Given the description of an element on the screen output the (x, y) to click on. 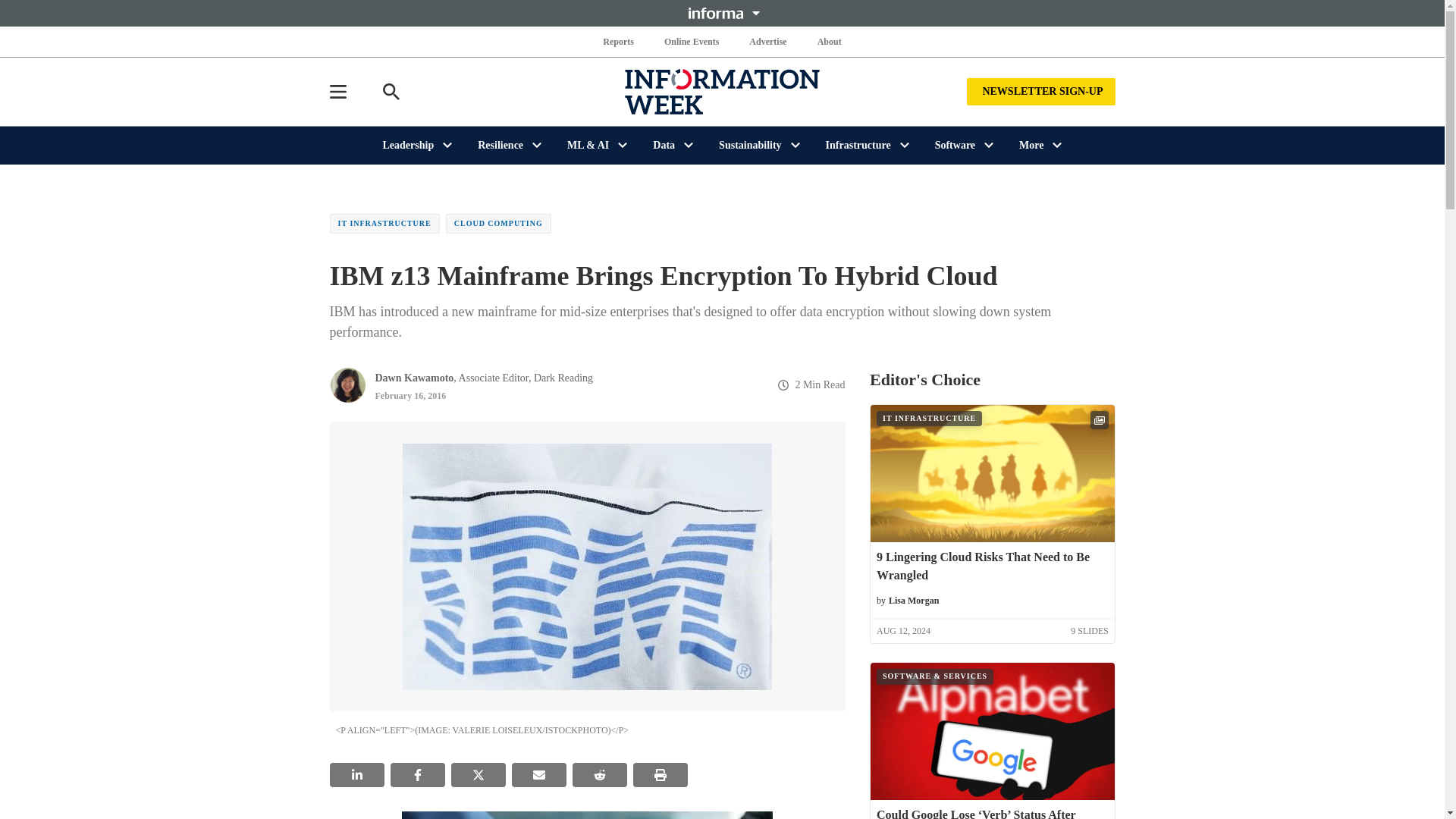
NEWSLETTER SIGN-UP (1040, 90)
Online Events (691, 41)
Picture of Dawn Kawamoto (347, 384)
InformationWeek (722, 91)
About (828, 41)
Advertise (767, 41)
Reports (618, 41)
